Given the description of an element on the screen output the (x, y) to click on. 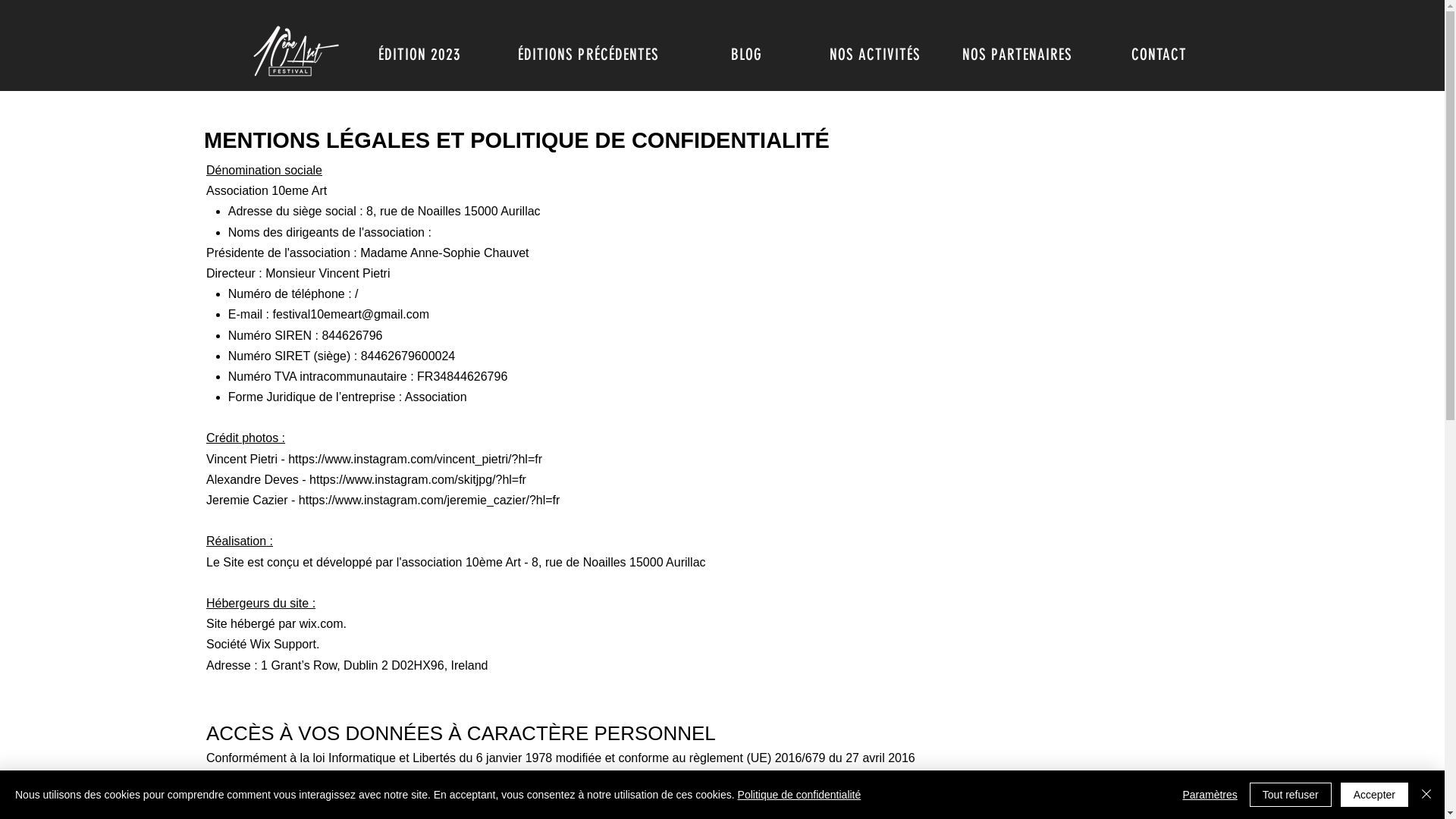
CONTACT Element type: text (1159, 53)
https://www.instagram.com/skitjpg/?hl=fr Element type: text (417, 479)
https://www.instagram.com/vincent_pietri/?hl=fr Element type: text (415, 458)
festival10emeart@gmail.com Element type: text (350, 313)
Tout refuser Element type: text (1290, 794)
BLOG Element type: text (746, 53)
NOS PARTENAIRES Element type: text (1016, 53)
https://www.instagram.com/jeremie_cazier/?hl=fr Element type: text (429, 499)
Accepter Element type: text (1374, 794)
